Given the description of an element on the screen output the (x, y) to click on. 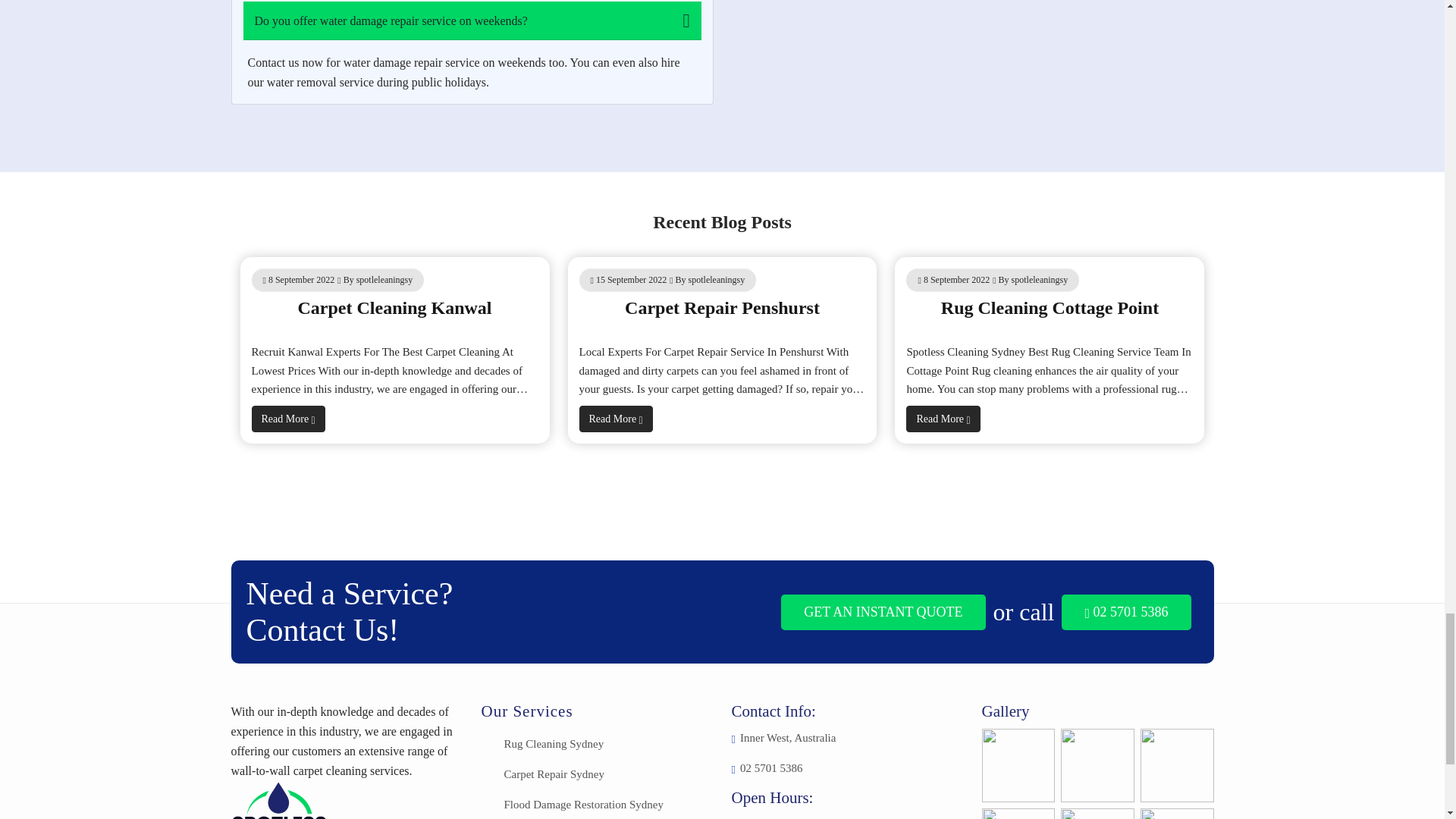
Carpet Repair Penshurst (721, 307)
Do you offer water damage repair service on weekends? (471, 20)
Carpet Cleaning Kanwal (394, 307)
Rug Cleaning Cottage Point (1049, 307)
Carpet Repair Penshurst (721, 307)
Read More (287, 418)
Carpet Cleaning Kanwal (394, 307)
